Given the description of an element on the screen output the (x, y) to click on. 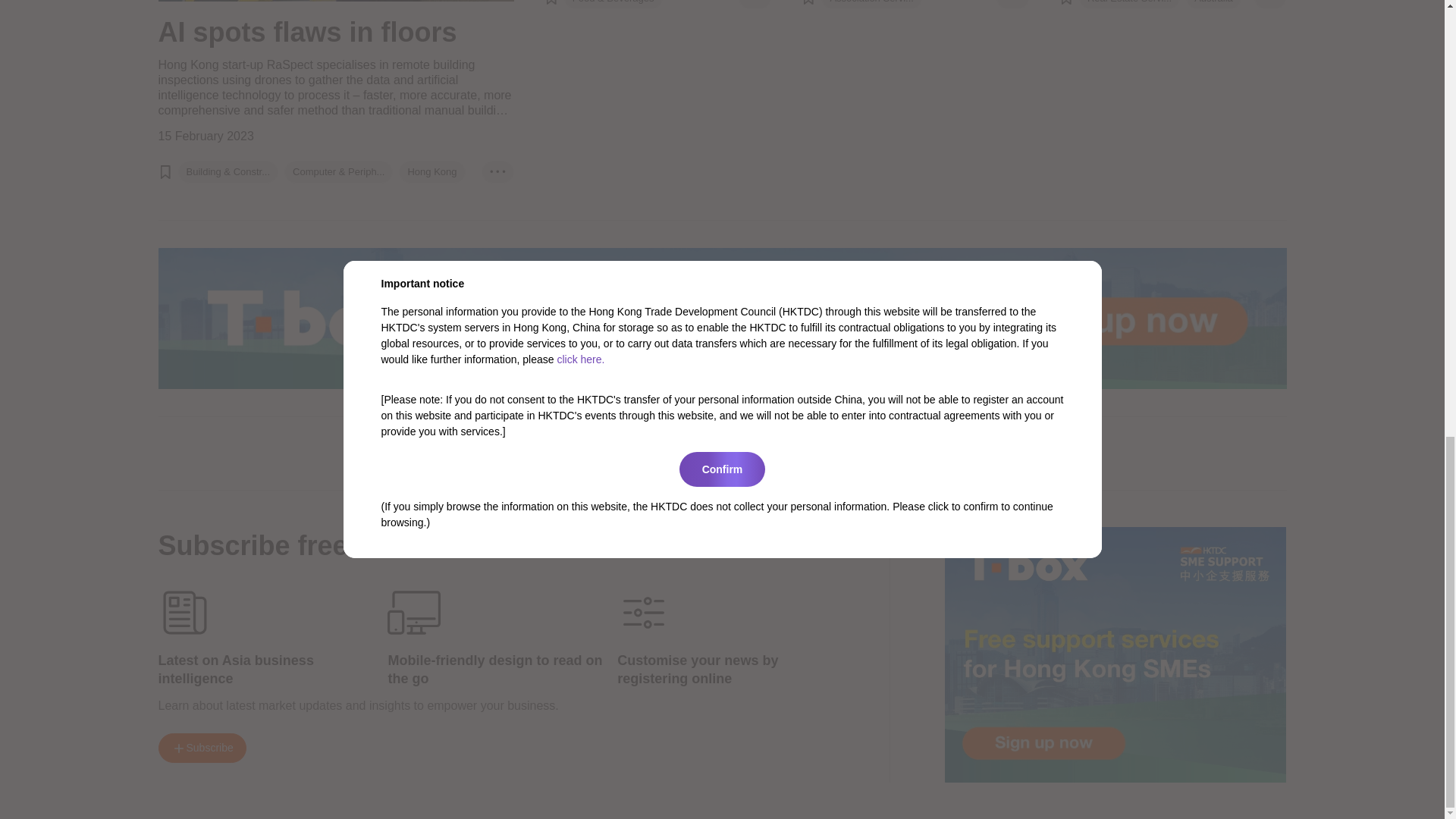
Hong Kong (432, 171)
